Given the description of an element on the screen output the (x, y) to click on. 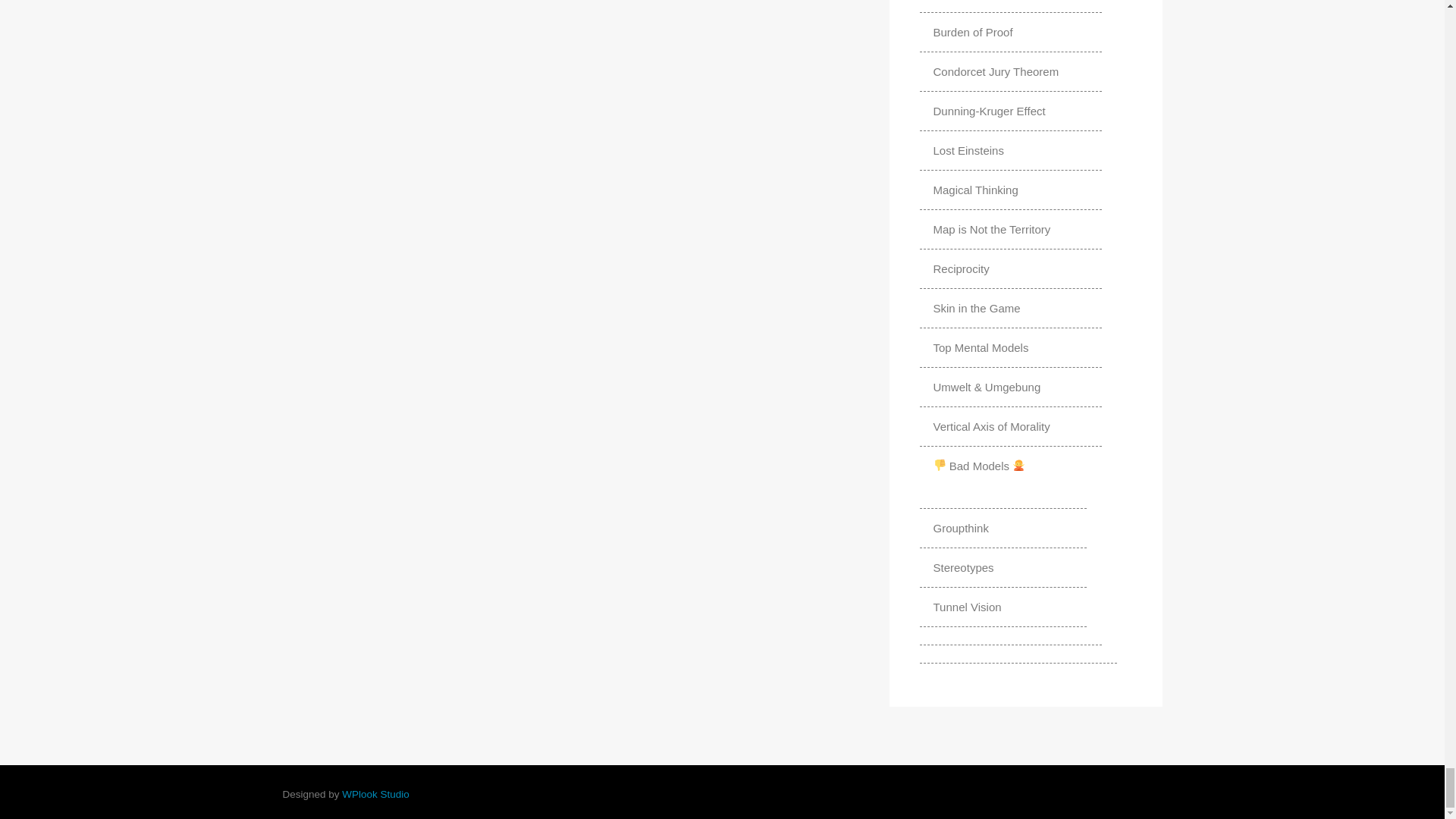
WPlook Studio (375, 794)
